Given the description of an element on the screen output the (x, y) to click on. 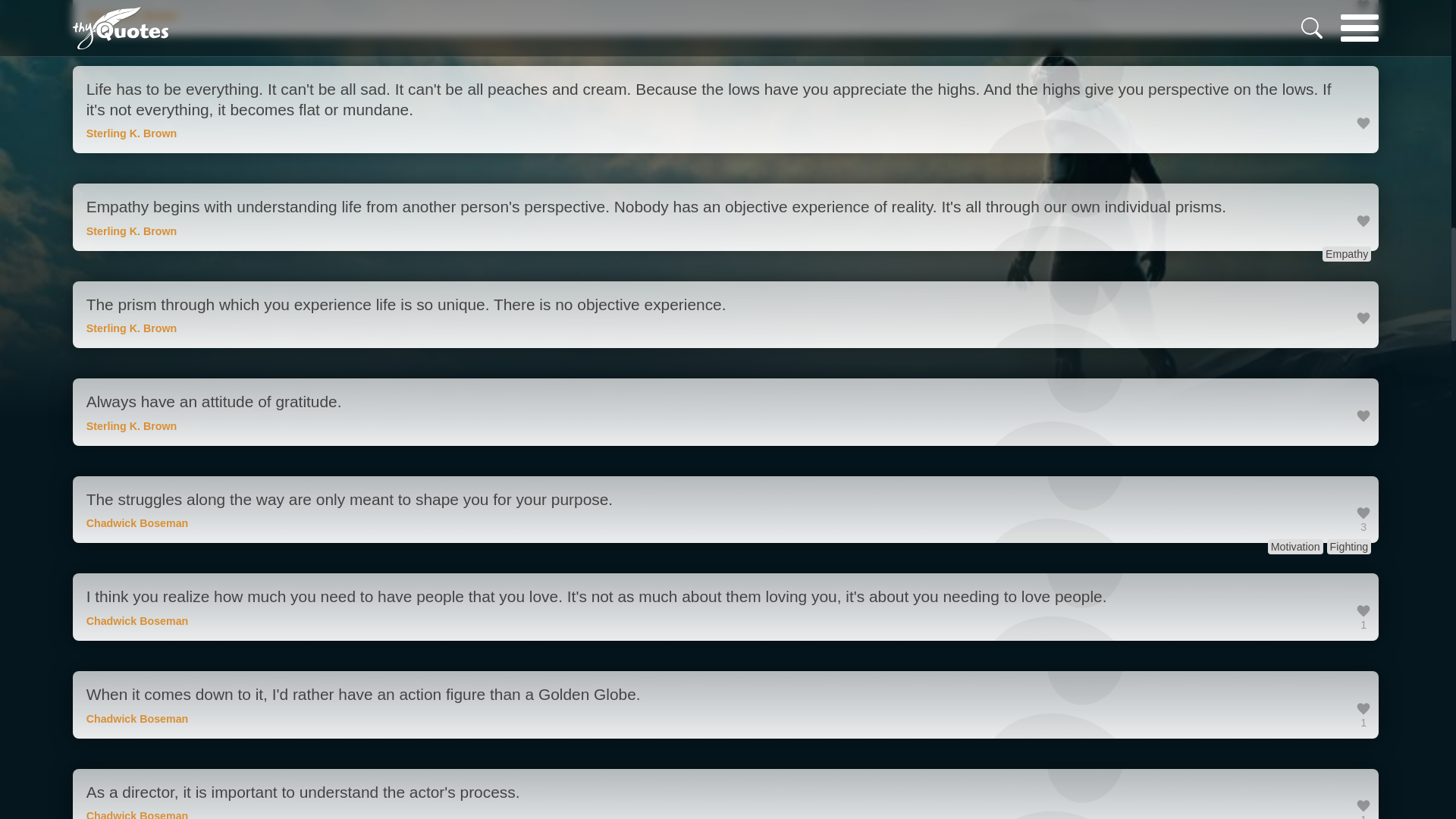
Chadwick Boseman (137, 814)
Sterling K. Brown (131, 426)
Chadwick Boseman (137, 621)
Sterling K. Brown (131, 231)
Empathy (1346, 253)
Chadwick Boseman (137, 718)
Motivation (1295, 546)
Sterling K. Brown (131, 328)
Sterling K. Brown (131, 133)
Sterling K. Brown (131, 15)
Fighting (1348, 546)
Chadwick Boseman (137, 522)
